Given the description of an element on the screen output the (x, y) to click on. 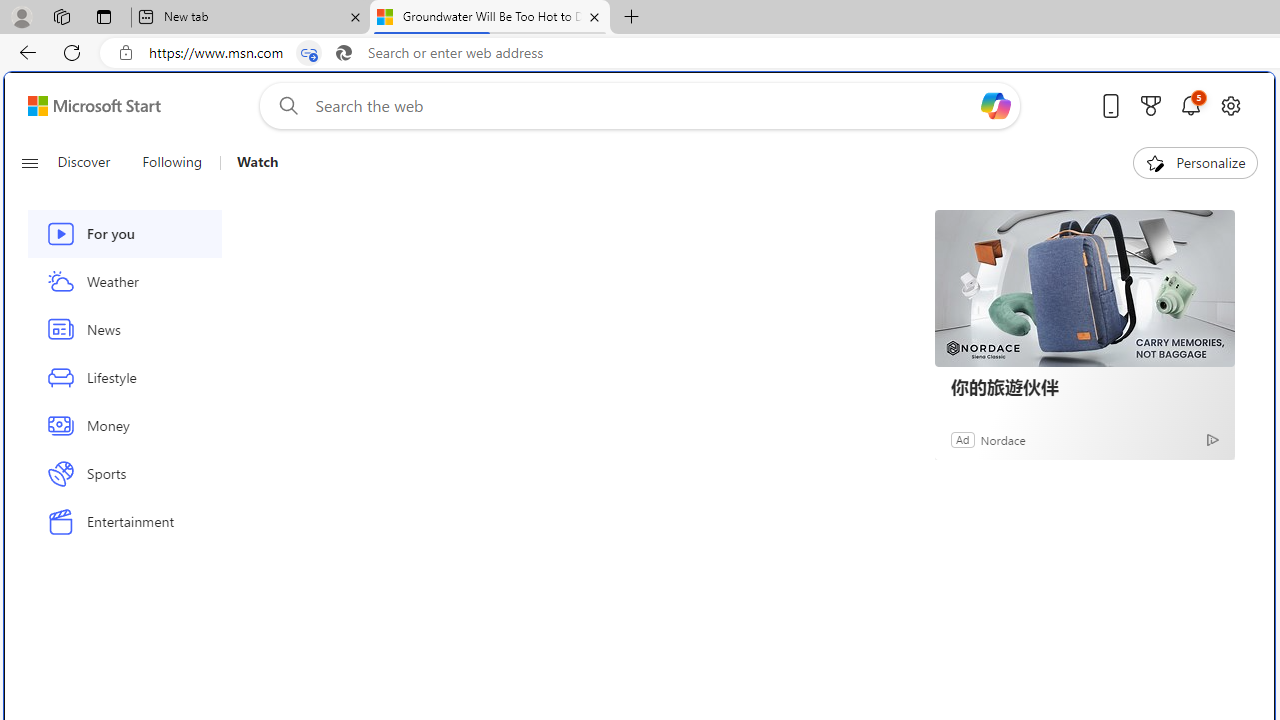
Enter your search term (644, 106)
Open settings (1230, 105)
Personalize (1195, 162)
Class: button-glyph (29, 162)
